Given the description of an element on the screen output the (x, y) to click on. 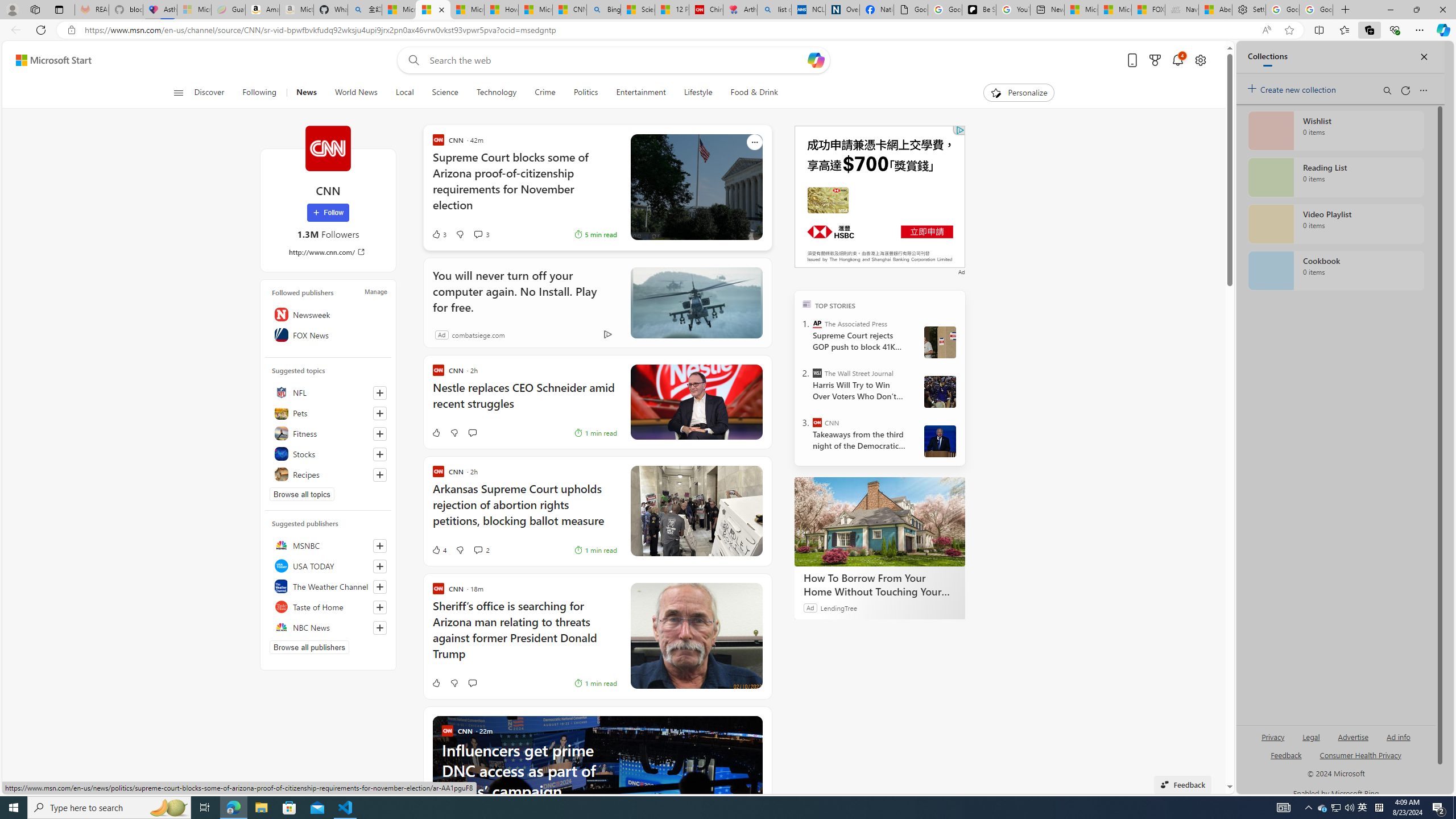
Ad (440, 334)
MSNBC (327, 545)
AutomationID: sb_feedback (1286, 754)
News (306, 92)
FOX News (327, 334)
Web search (411, 60)
Entertainment (640, 92)
Manage (375, 291)
